Given the description of an element on the screen output the (x, y) to click on. 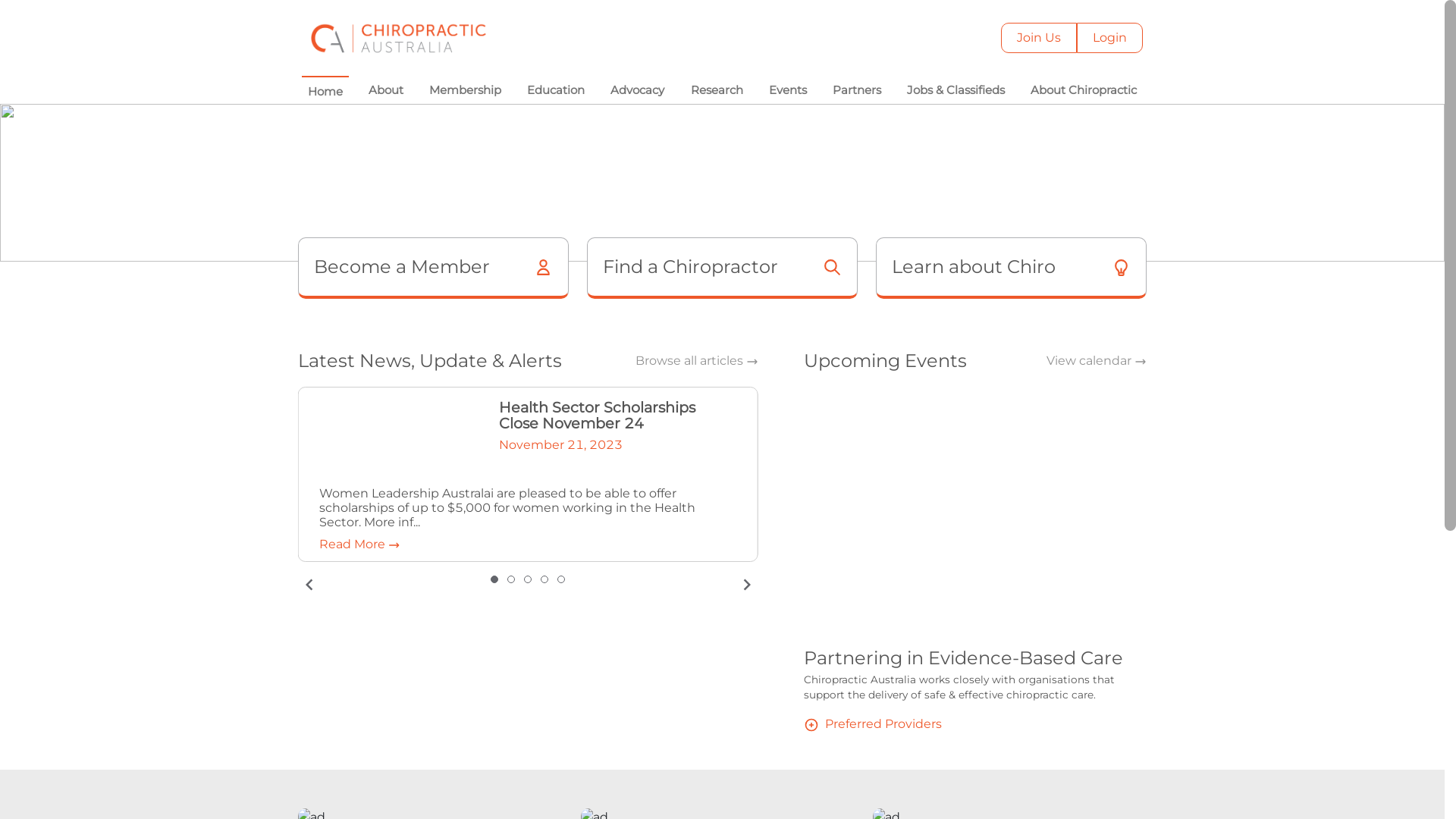
slide item 3 Element type: hover (527, 579)
Membership Element type: text (465, 90)
Research Element type: text (716, 90)
previous slide / item Element type: hover (308, 584)
Advocacy Element type: text (637, 90)
Login Element type: text (1109, 37)
Events Element type: text (787, 90)
Jobs & Classifieds Element type: text (955, 90)
Home Element type: text (324, 90)
next slide / item Element type: hover (746, 584)
Learn about Chiro Element type: text (1010, 267)
slide item 4 Element type: hover (544, 579)
Education Element type: text (555, 90)
About Element type: text (385, 90)
Browse all articles Element type: text (696, 360)
Selected: slide item 1 Element type: hover (494, 579)
Read More Element type: text (358, 544)
Become a Member Element type: text (432, 267)
Find a Chiropractor Element type: text (721, 267)
slide item 2 Element type: hover (510, 579)
About Chiropractic Element type: text (1083, 90)
slide item 5 Element type: hover (560, 579)
Partners Element type: text (856, 90)
Preferred Providers Element type: text (872, 723)
View calendar Element type: text (1096, 360)
Join Us Element type: text (1038, 37)
